Given the description of an element on the screen output the (x, y) to click on. 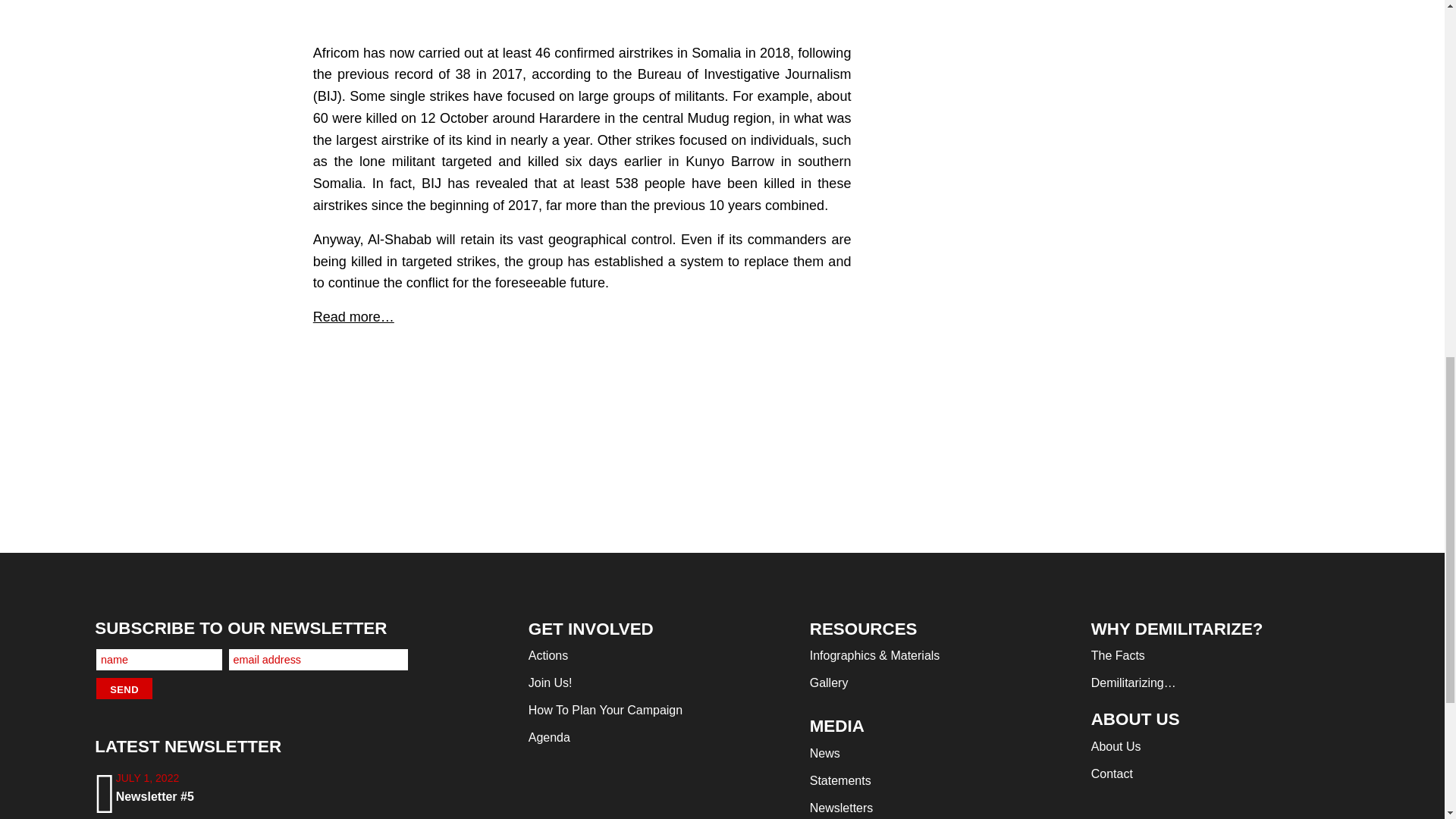
send (124, 688)
